Given the description of an element on the screen output the (x, y) to click on. 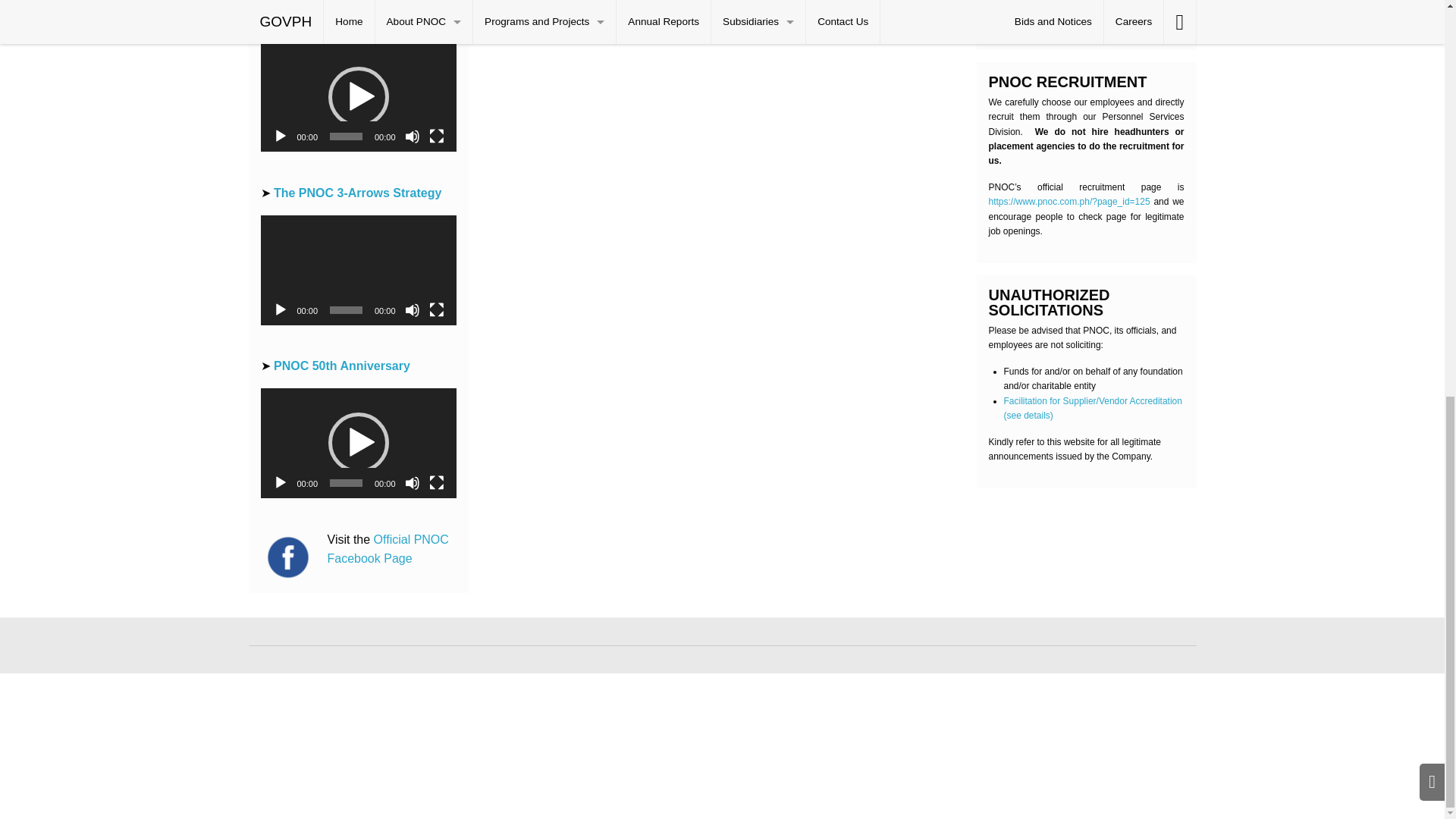
Fullscreen (436, 136)
Play (280, 136)
Mute (412, 136)
